Given the description of an element on the screen output the (x, y) to click on. 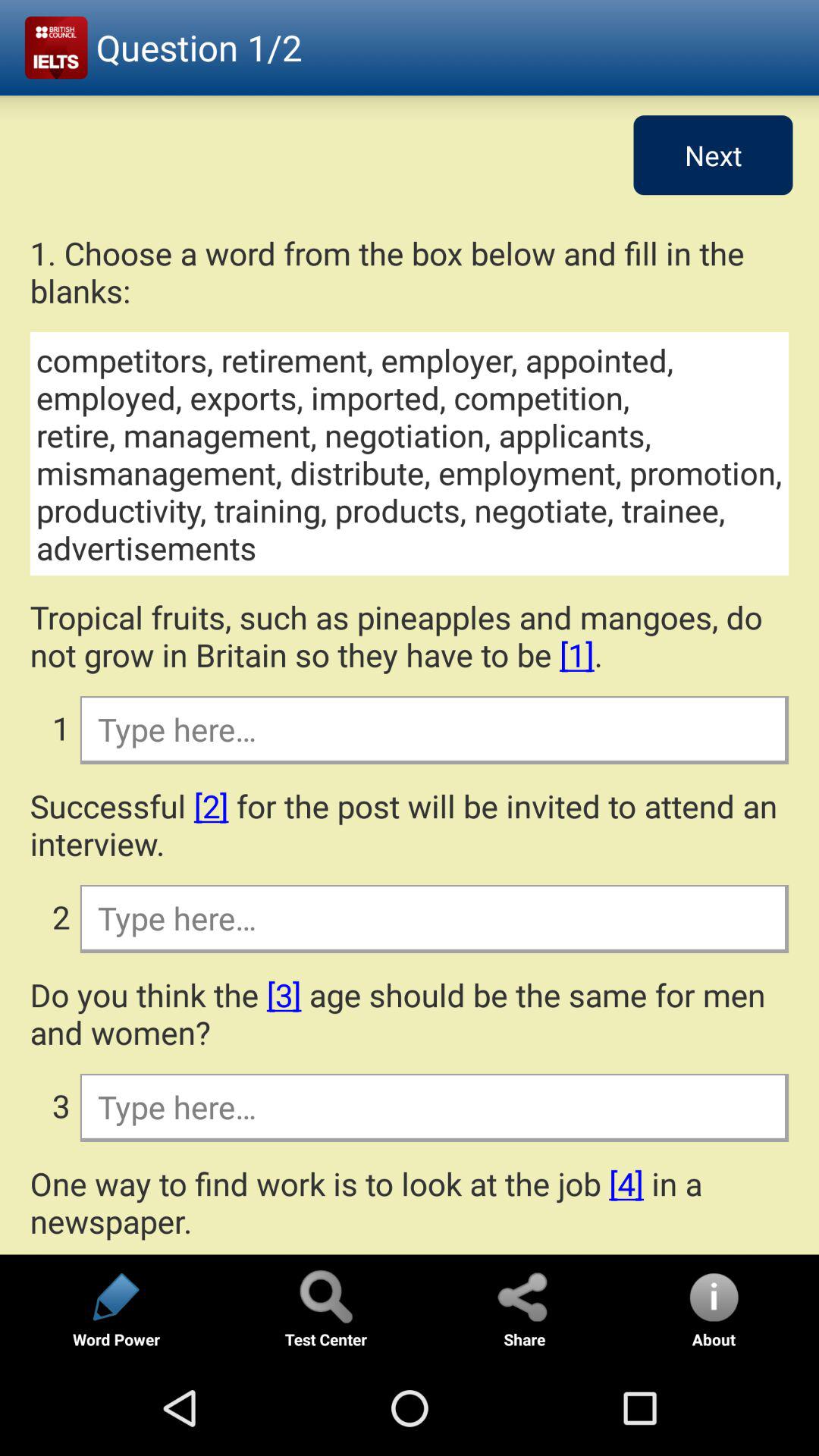
turn off the next button (712, 155)
